Given the description of an element on the screen output the (x, y) to click on. 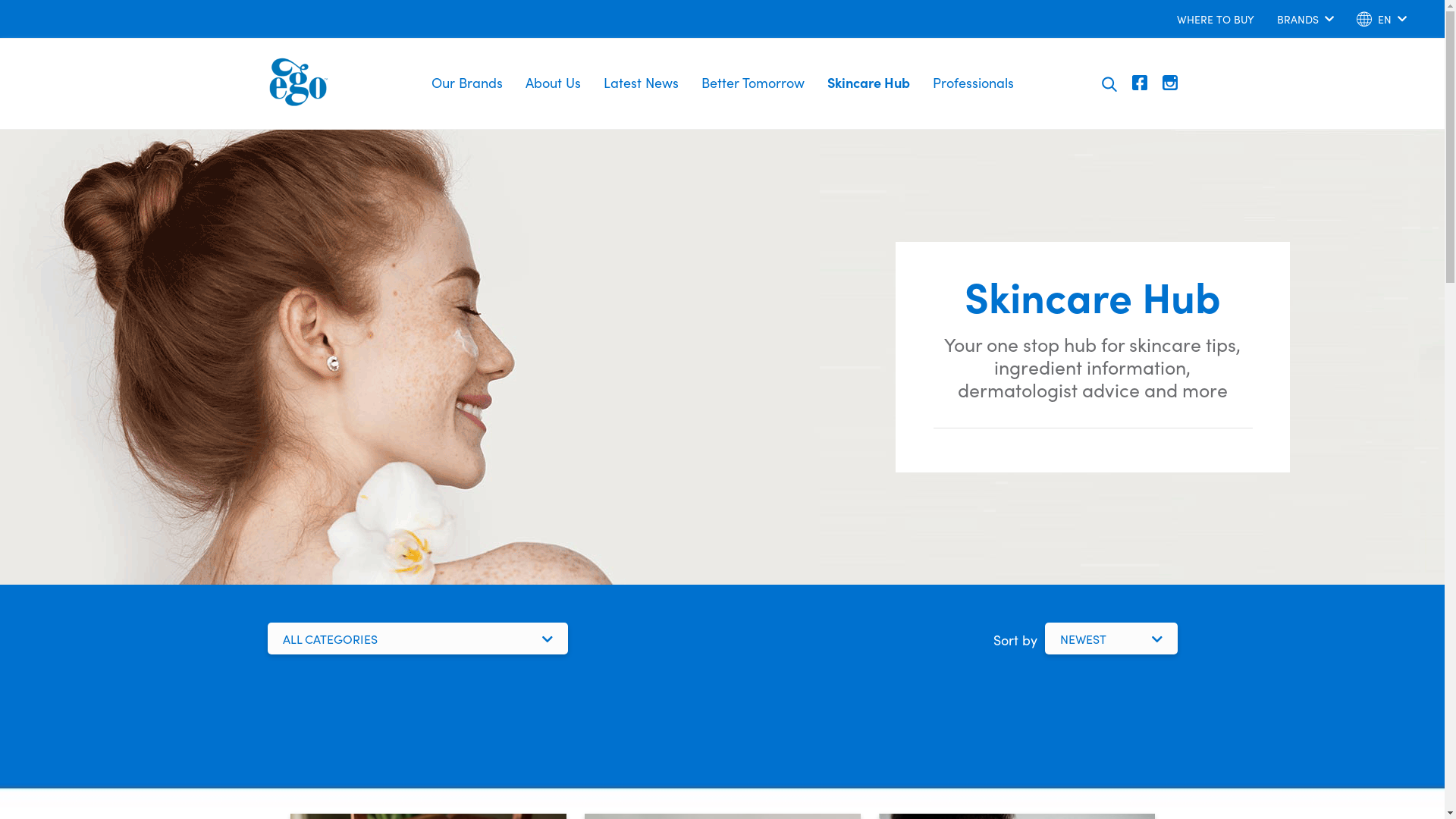
EN Element type: text (1381, 22)
Latest News Element type: text (640, 83)
Better Tomorrow Element type: text (752, 83)
WHERE TO BUY Element type: text (1215, 18)
BRANDS Element type: text (1305, 22)
Our Brands Element type: text (467, 83)
About Us Element type: text (553, 83)
Professionals Element type: text (972, 83)
Skincare Hub Element type: text (868, 83)
